Given the description of an element on the screen output the (x, y) to click on. 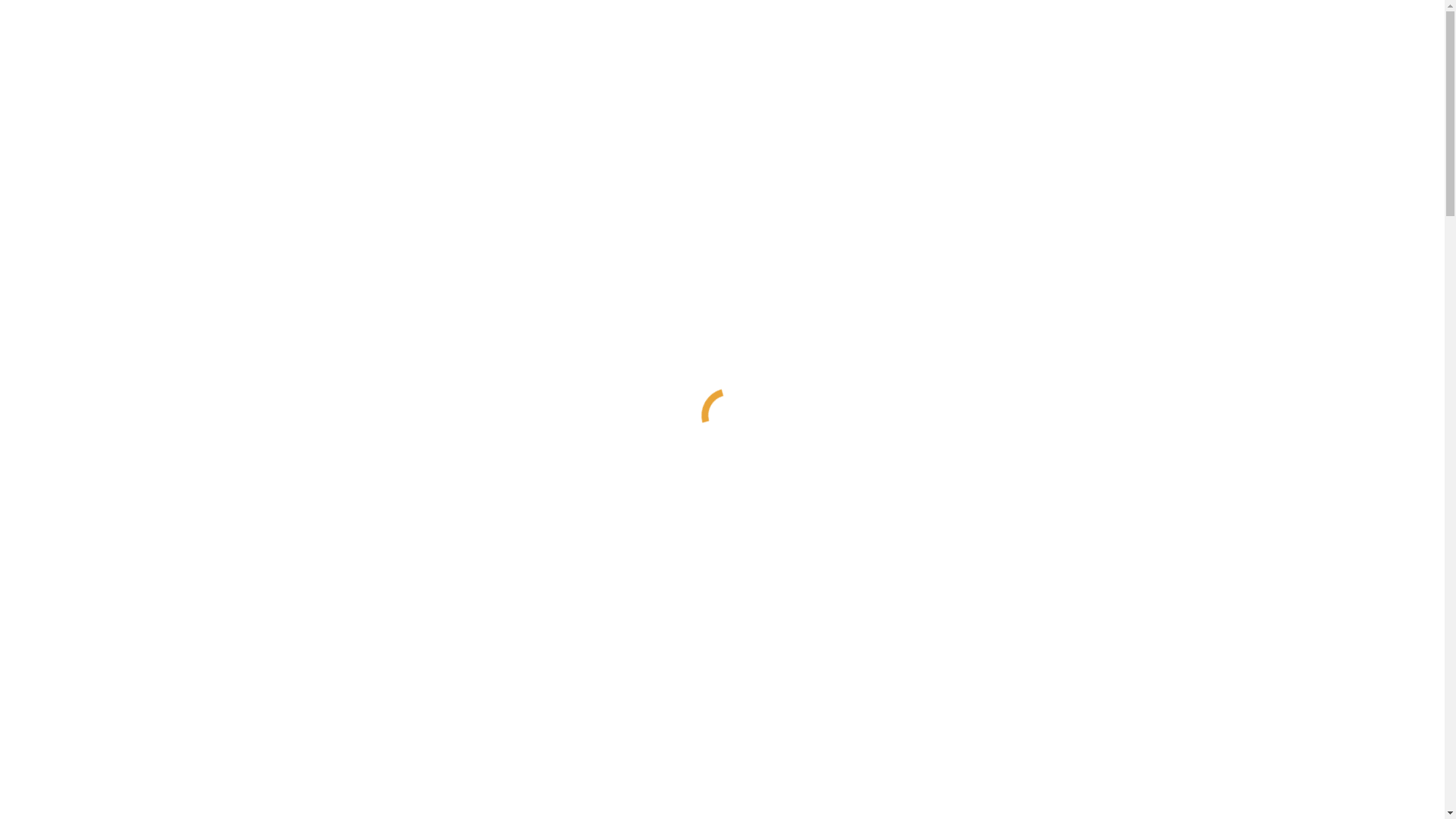
Annual Riding Club Membership Element type: text (147, 378)
Club Days and Amenities Element type: text (128, 487)
Blog Element type: text (47, 542)
Wine Element type: text (49, 528)
Club Days and Amenities Element type: text (128, 799)
Merchandise Element type: text (97, 460)
Stallion Service Element type: text (105, 745)
Skip to content Element type: text (5, 5)
Hiring our Facilities or Ride & Stay Element type: text (153, 337)
Hiring our Facilities or Ride & Stay Element type: text (153, 649)
Horses for Sale Element type: text (103, 446)
Cross Country Course Element type: text (120, 310)
SEARCH Element type: text (29, 103)
Day Riding Club Membership Element type: text (139, 391)
Facilities Element type: text (58, 595)
FAQ Element type: text (78, 677)
Cross Country Course Element type: text (120, 622)
CART Element type: text (21, 25)
Events Element type: text (52, 718)
Annual Riding Club Membership Element type: text (147, 690)
Working Equitation Course Element type: text (133, 636)
Showjumping and Dressage Element type: text (134, 296)
Haflinger Horses Element type: text (77, 419)
Home Element type: text (50, 581)
Enquire about our Facilities Element type: text (133, 351)
Merchandise Element type: text (97, 772)
Events Element type: text (52, 405)
Facilities Element type: text (58, 282)
Working Equitation Course Element type: text (133, 323)
fernancescreek@gmail.com Element type: text (140, 12)
Accommodation Element type: text (76, 786)
View Cart Element type: text (30, 51)
Checkout Element type: text (78, 51)
Day Riding Club Membership Element type: text (139, 704)
Horses for Sale Element type: text (103, 759)
Haflinger Horses Element type: text (77, 731)
Search form Element type: hover (73, 118)
Back Forty Cottage Element type: text (113, 514)
Accommodation Element type: text (76, 473)
Stallion Service Element type: text (105, 432)
Showjumping and Dressage Element type: text (134, 608)
Home Element type: text (50, 269)
Enquire about our Facilities Element type: text (133, 663)
Go! Element type: text (20, 134)
Contact Us Element type: text (63, 555)
FAQ Element type: text (78, 364)
